Given the description of an element on the screen output the (x, y) to click on. 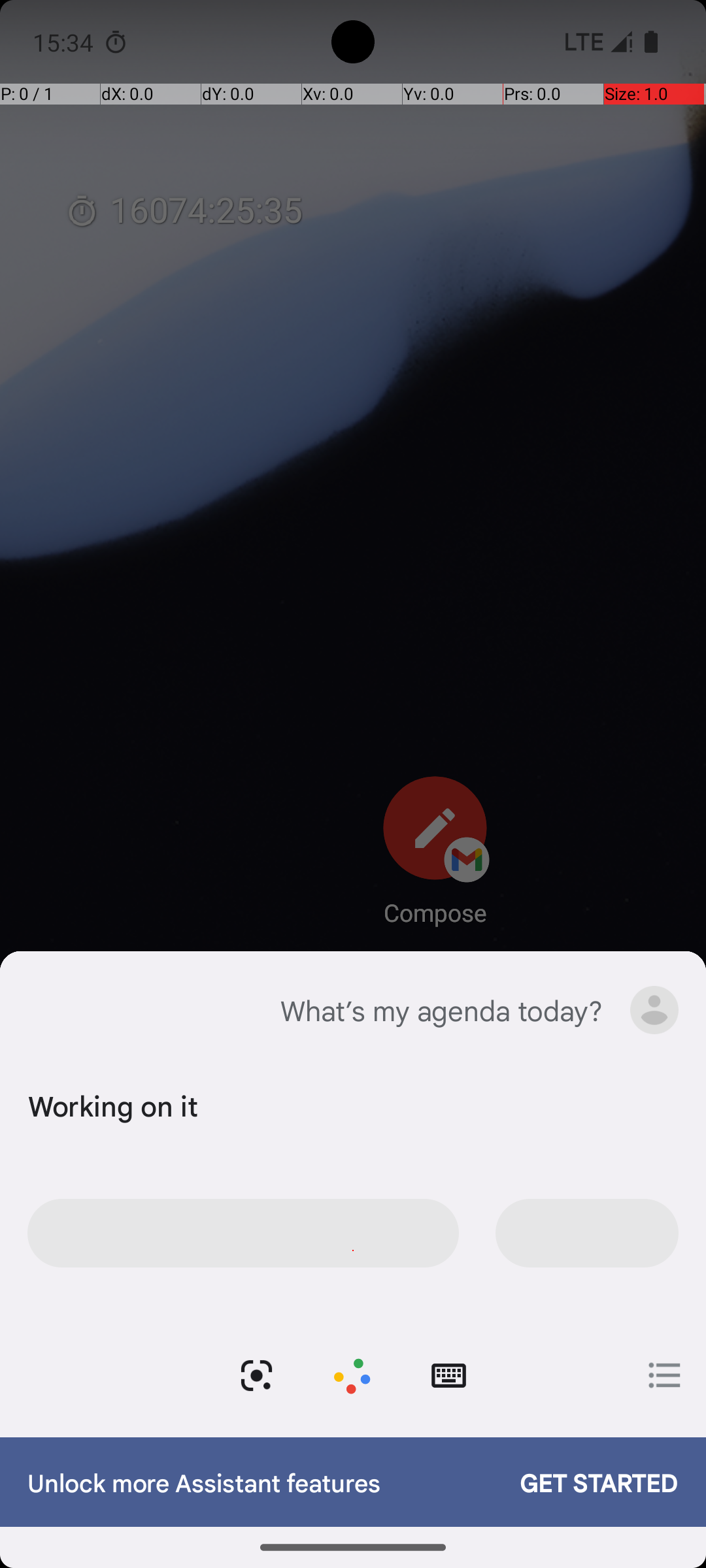
  Element type: android.view.View (351, 1375)
Unlock more Assistant features Element type: android.widget.TextView (259, 1481)
GET STARTED Element type: android.widget.TextView (585, 1481)
Google assistant Element type: android.widget.ImageView (48, 1009)
What’s my agenda today? Element type: com.google.android.apps.gsa.searchplate.widget.StreamingTextView (440, 1009)
Google Assistant menu. Element type: android.widget.ImageView (654, 1009)
Working on it Element type: android.widget.TextView (349, 1104)
